Given the description of an element on the screen output the (x, y) to click on. 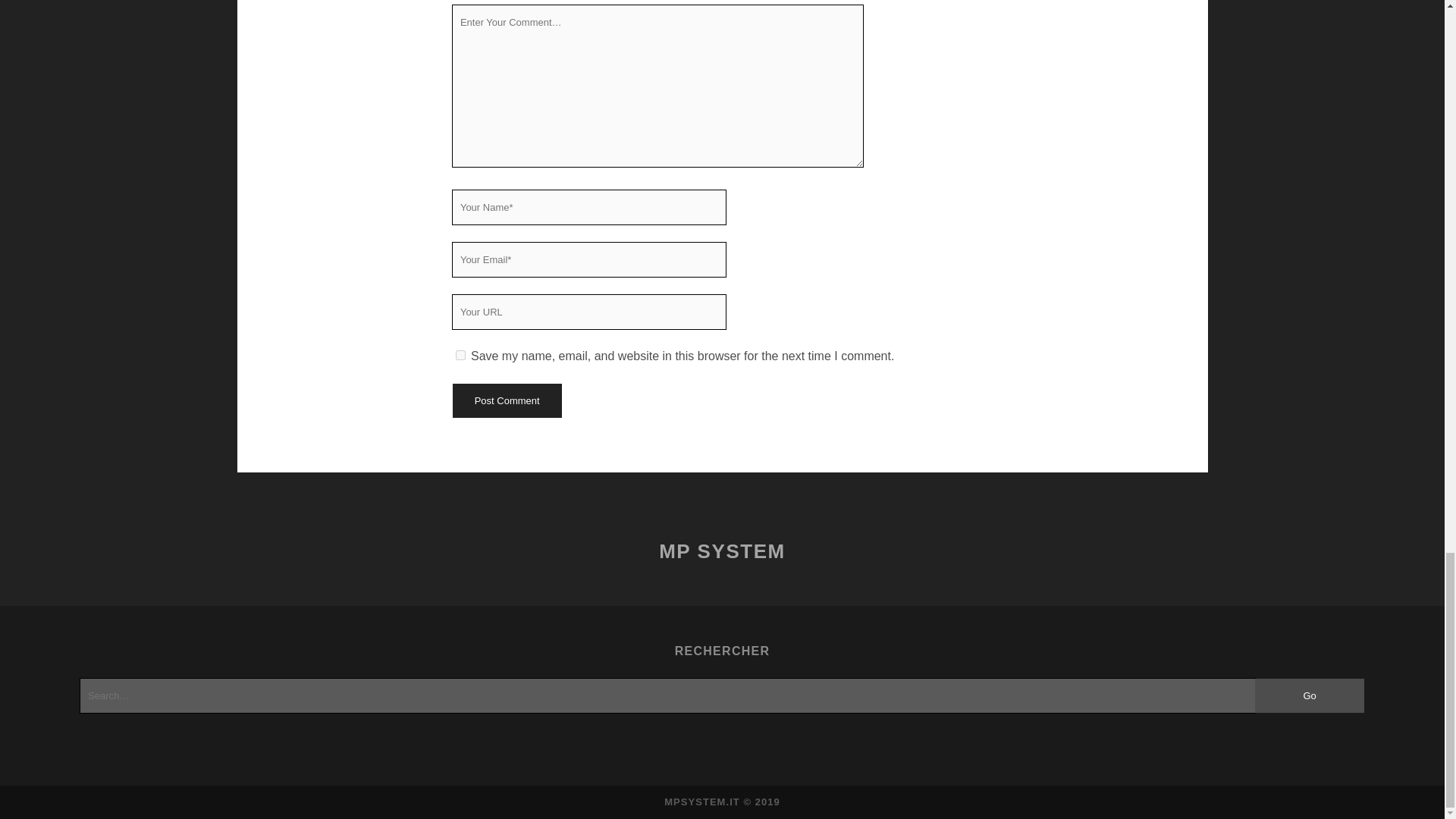
Go (1309, 695)
Post Comment (505, 400)
Go (1309, 695)
Go (1309, 695)
MP SYSTEM (722, 550)
yes (459, 355)
Search for: (667, 695)
Post Comment (505, 400)
